Given the description of an element on the screen output the (x, y) to click on. 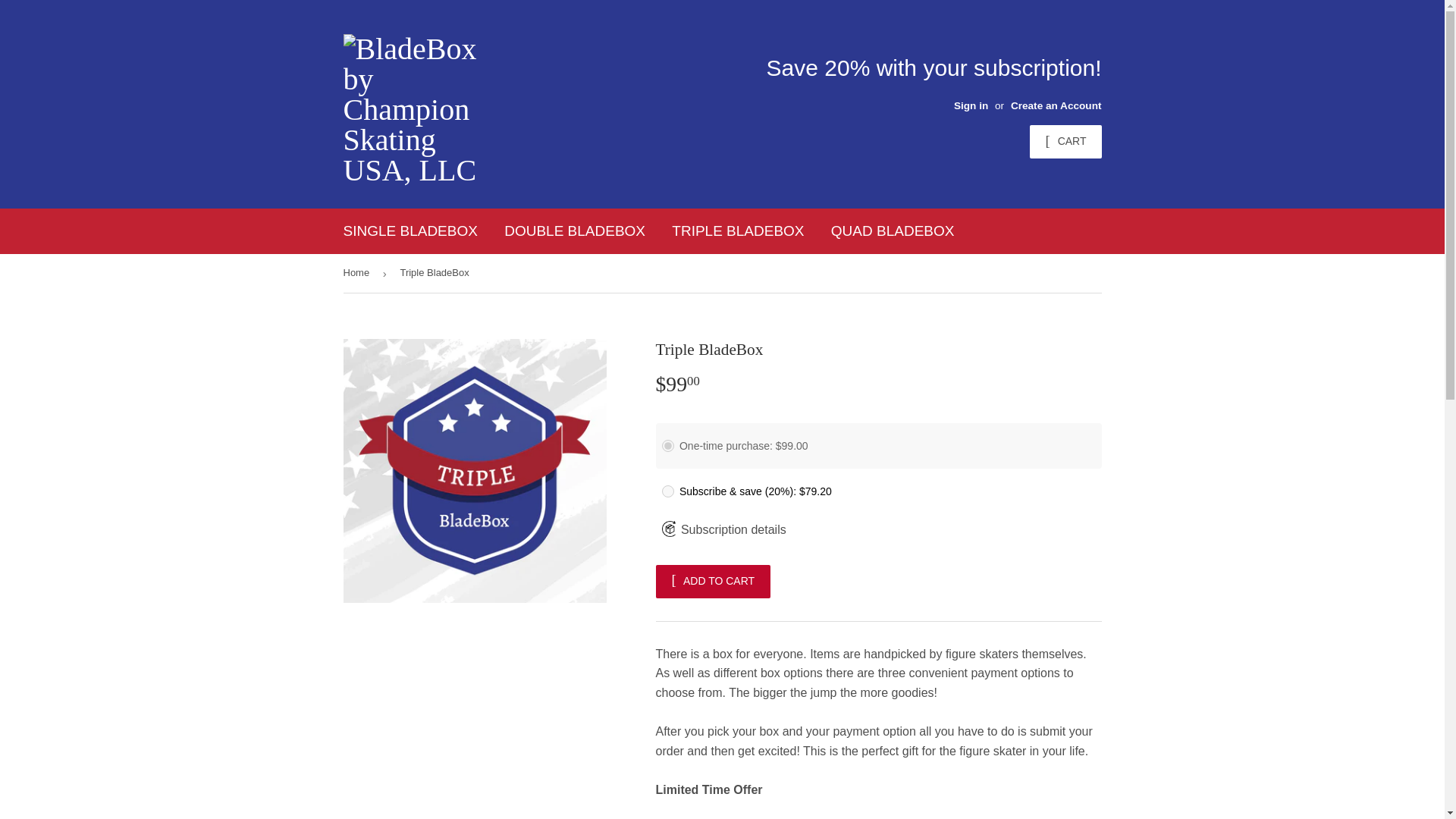
Sign in (970, 105)
Create an Account (1056, 105)
TRIPLE BLADEBOX (738, 230)
DOUBLE BLADEBOX (574, 230)
QUAD BLADEBOX (892, 230)
CART (1064, 141)
SINGLE BLADEBOX (410, 230)
ADD TO CART (712, 581)
